Given the description of an element on the screen output the (x, y) to click on. 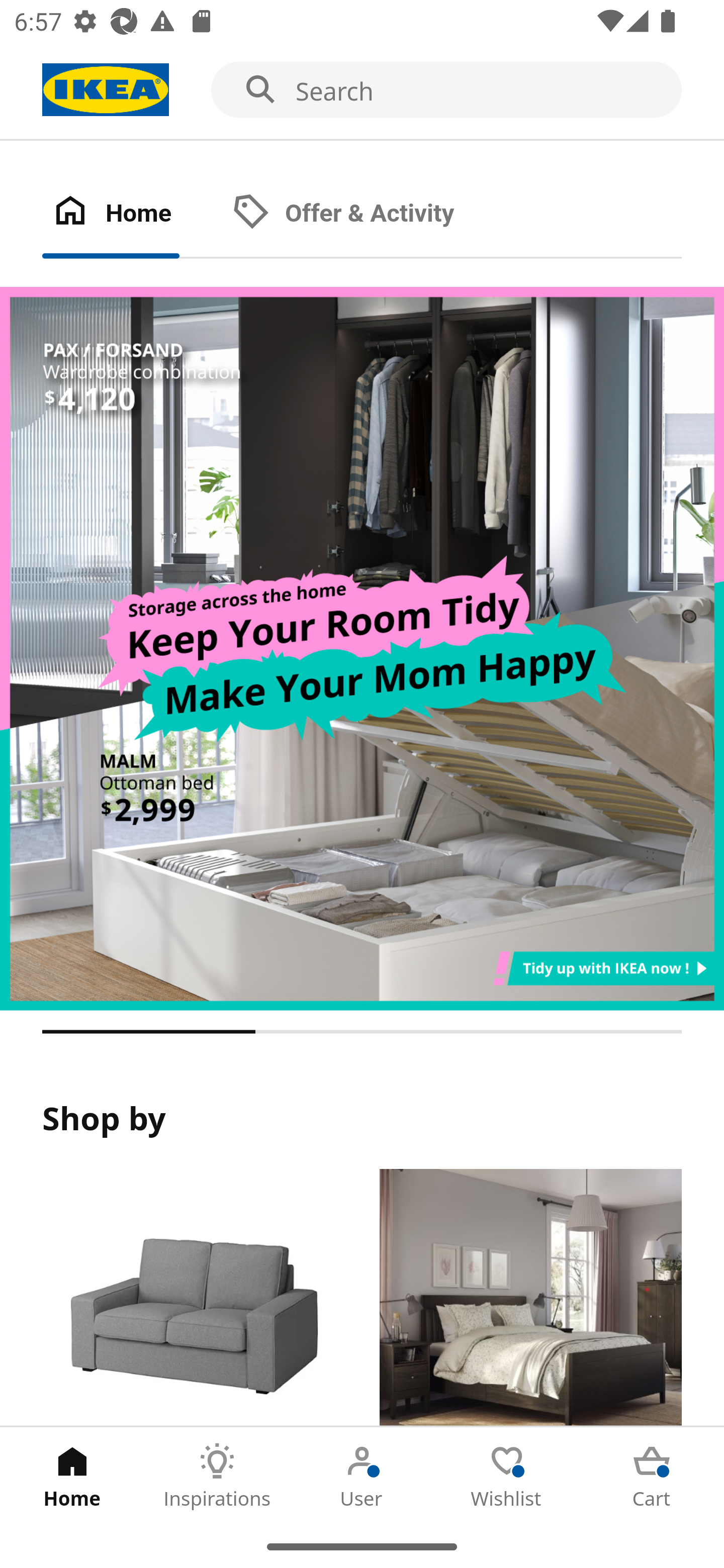
Search (361, 90)
Home
Tab 1 of 2 (131, 213)
Offer & Activity
Tab 2 of 2 (363, 213)
Products (192, 1297)
Rooms (530, 1297)
Home
Tab 1 of 5 (72, 1476)
Inspirations
Tab 2 of 5 (216, 1476)
User
Tab 3 of 5 (361, 1476)
Wishlist
Tab 4 of 5 (506, 1476)
Cart
Tab 5 of 5 (651, 1476)
